Given the description of an element on the screen output the (x, y) to click on. 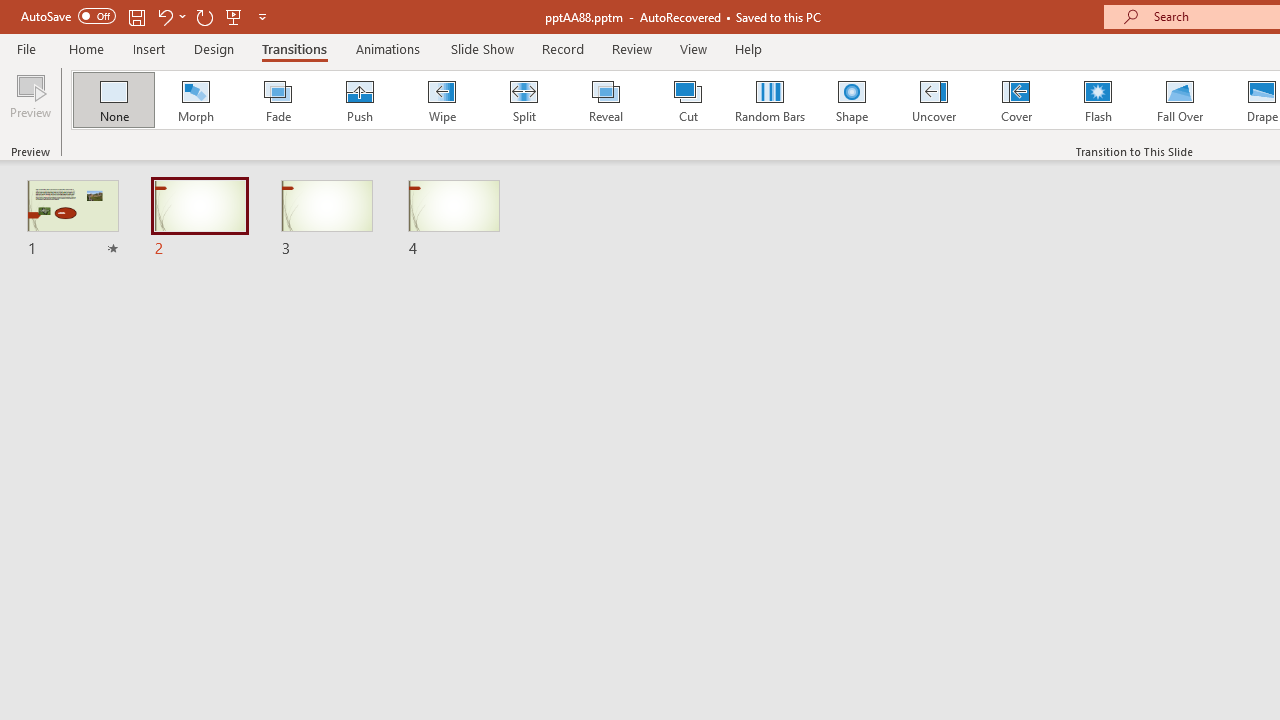
None (113, 100)
Random Bars (770, 100)
Split (523, 100)
